Given the description of an element on the screen output the (x, y) to click on. 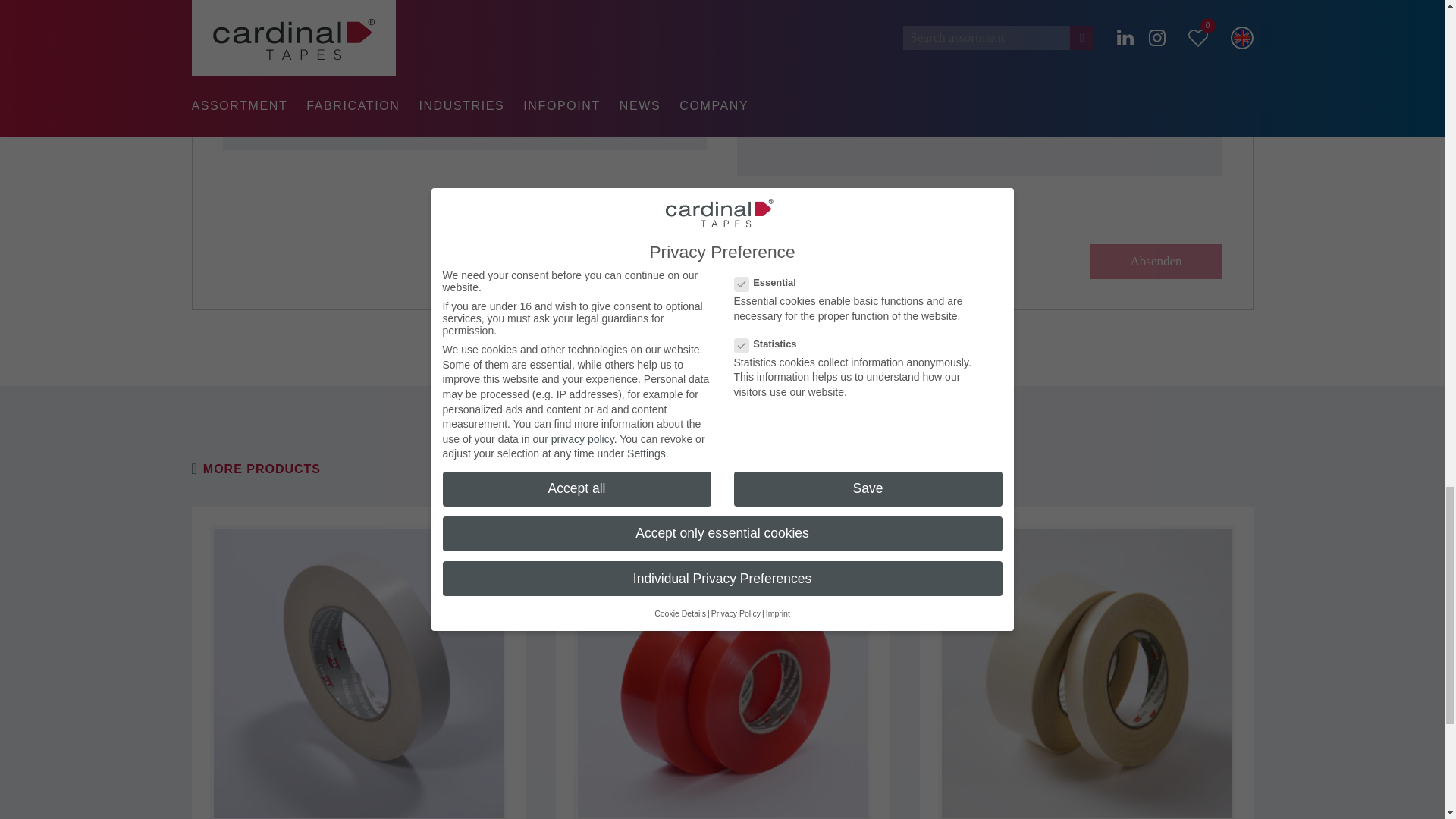
Absenden (1156, 261)
1 (742, 195)
1 (742, 221)
